Given the description of an element on the screen output the (x, y) to click on. 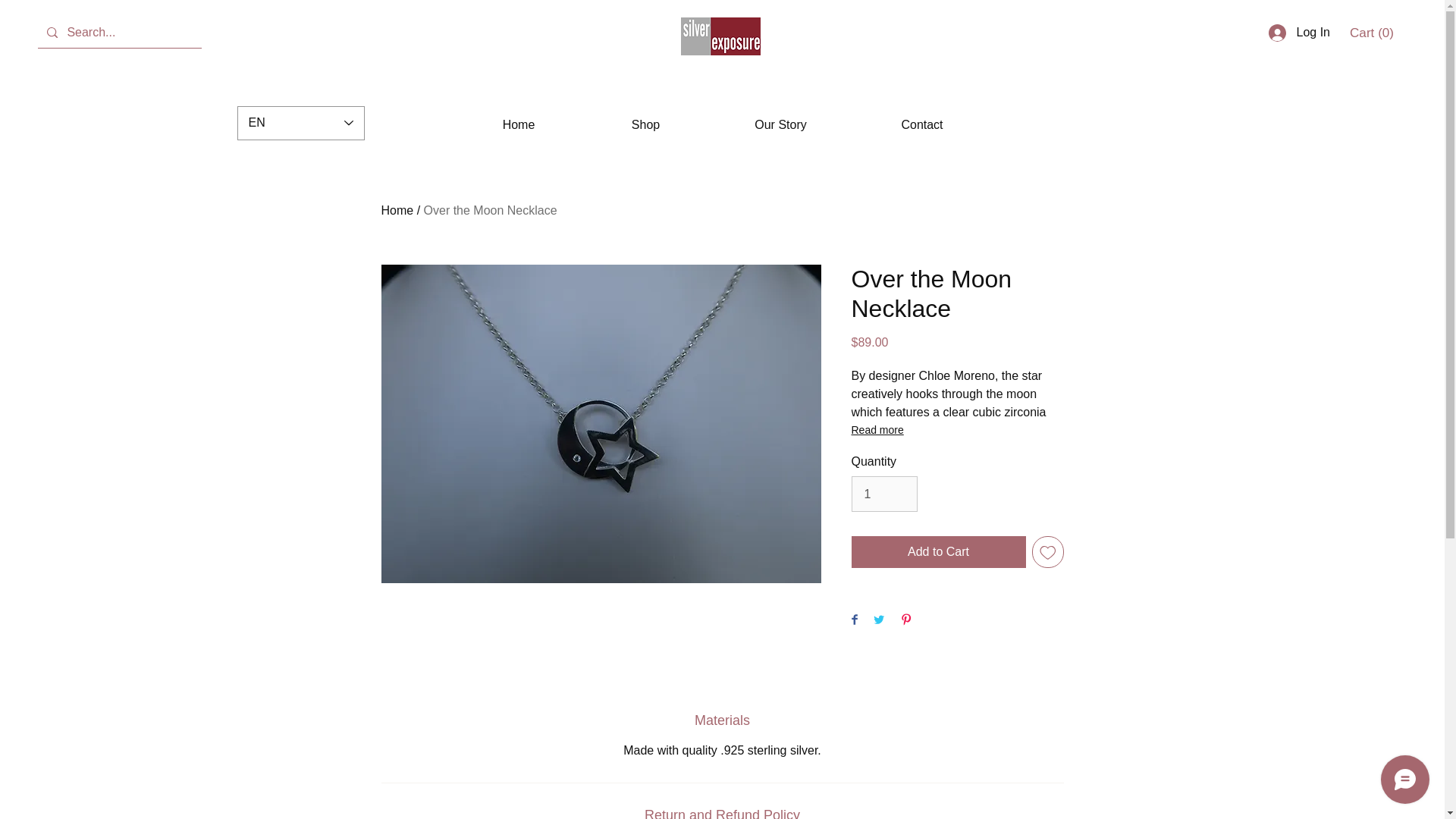
Over the Moon Necklace (490, 210)
Contact (922, 125)
Shop (645, 125)
Our Story (780, 125)
Read more (956, 429)
Home (517, 125)
Home (396, 210)
Add to Cart (937, 552)
1 (883, 493)
Log In (1298, 32)
